Given the description of an element on the screen output the (x, y) to click on. 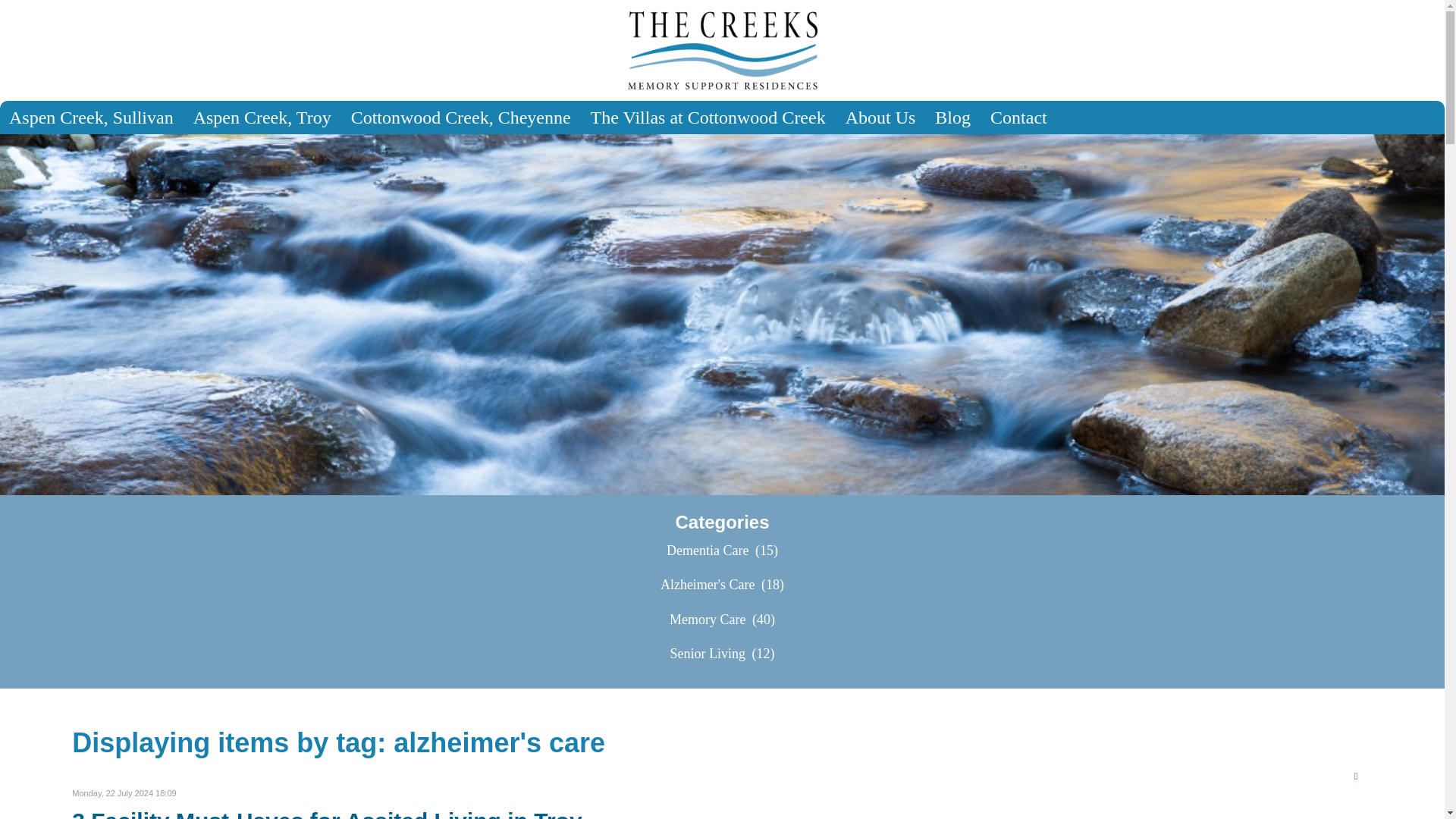
Aspen Creek, Troy (262, 117)
Blog (952, 117)
3 Facility Must-Haves for Assited Living in Troy (325, 813)
The Villas at Cottonwood Creek (707, 117)
Aspen Creek, Sullivan (91, 117)
Contact (1019, 117)
About Us (879, 117)
Subscribe to this RSS feed (1360, 776)
Cottonwood Creek, Cheyenne (460, 117)
